Given the description of an element on the screen output the (x, y) to click on. 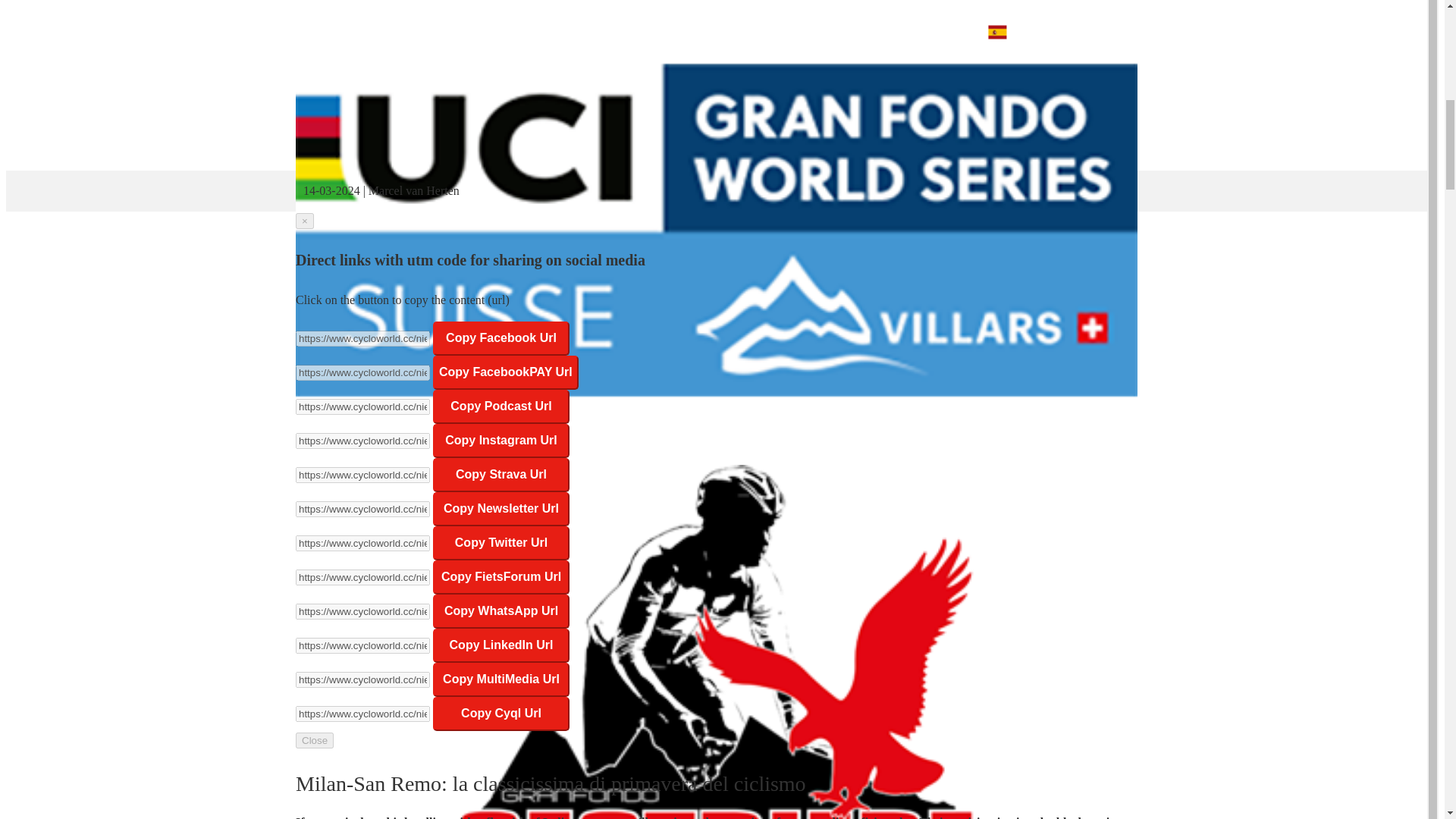
Copy FacebookPAY Url (505, 372)
Copy Facebook Url (500, 338)
Copy Strava Url (500, 474)
Copy Podcast Url (500, 406)
Copy Instagram Url (500, 440)
